Given the description of an element on the screen output the (x, y) to click on. 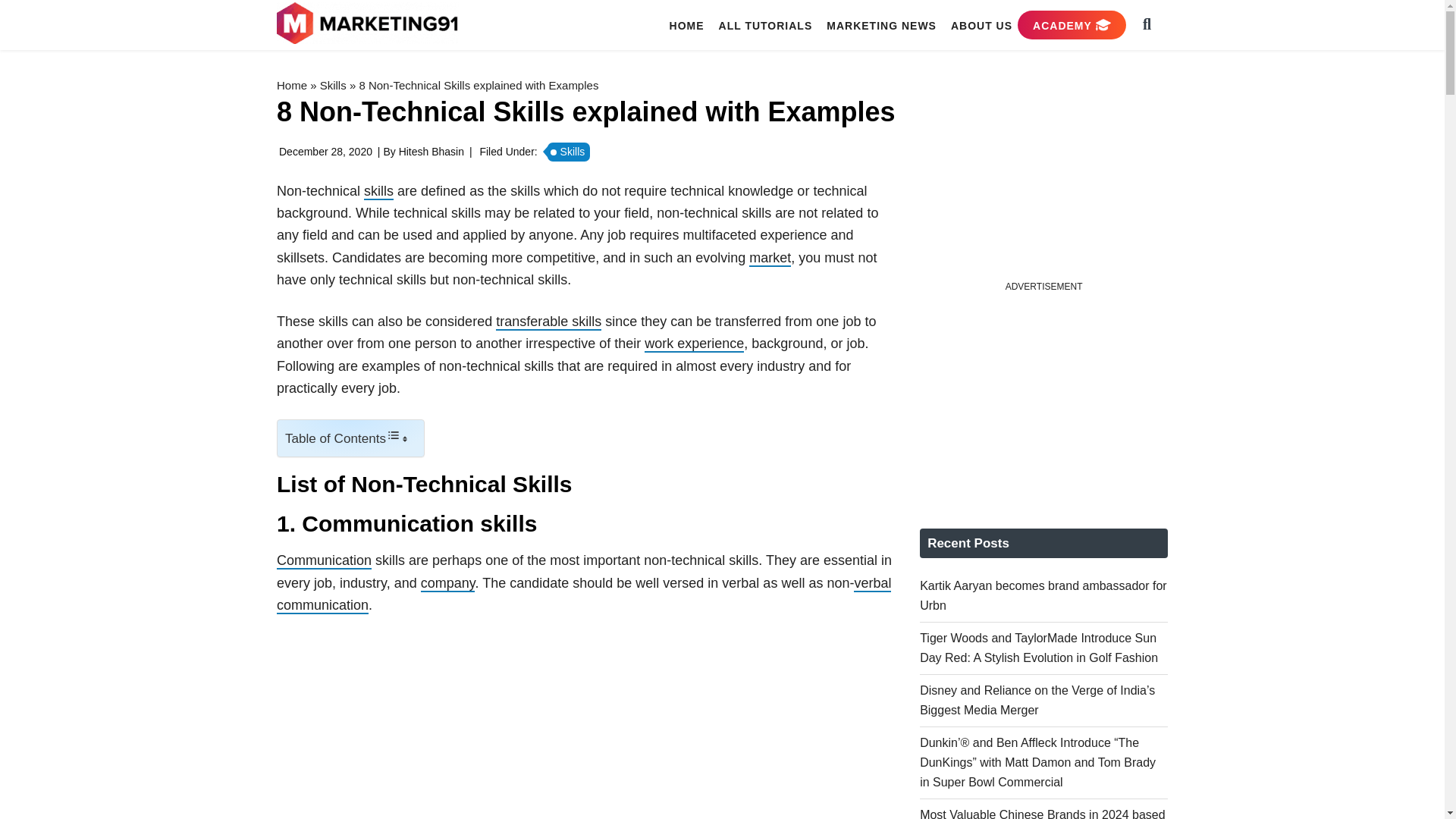
HOME (687, 24)
MARKETING91 (369, 24)
ALL TUTORIALS (766, 24)
